Given the description of an element on the screen output the (x, y) to click on. 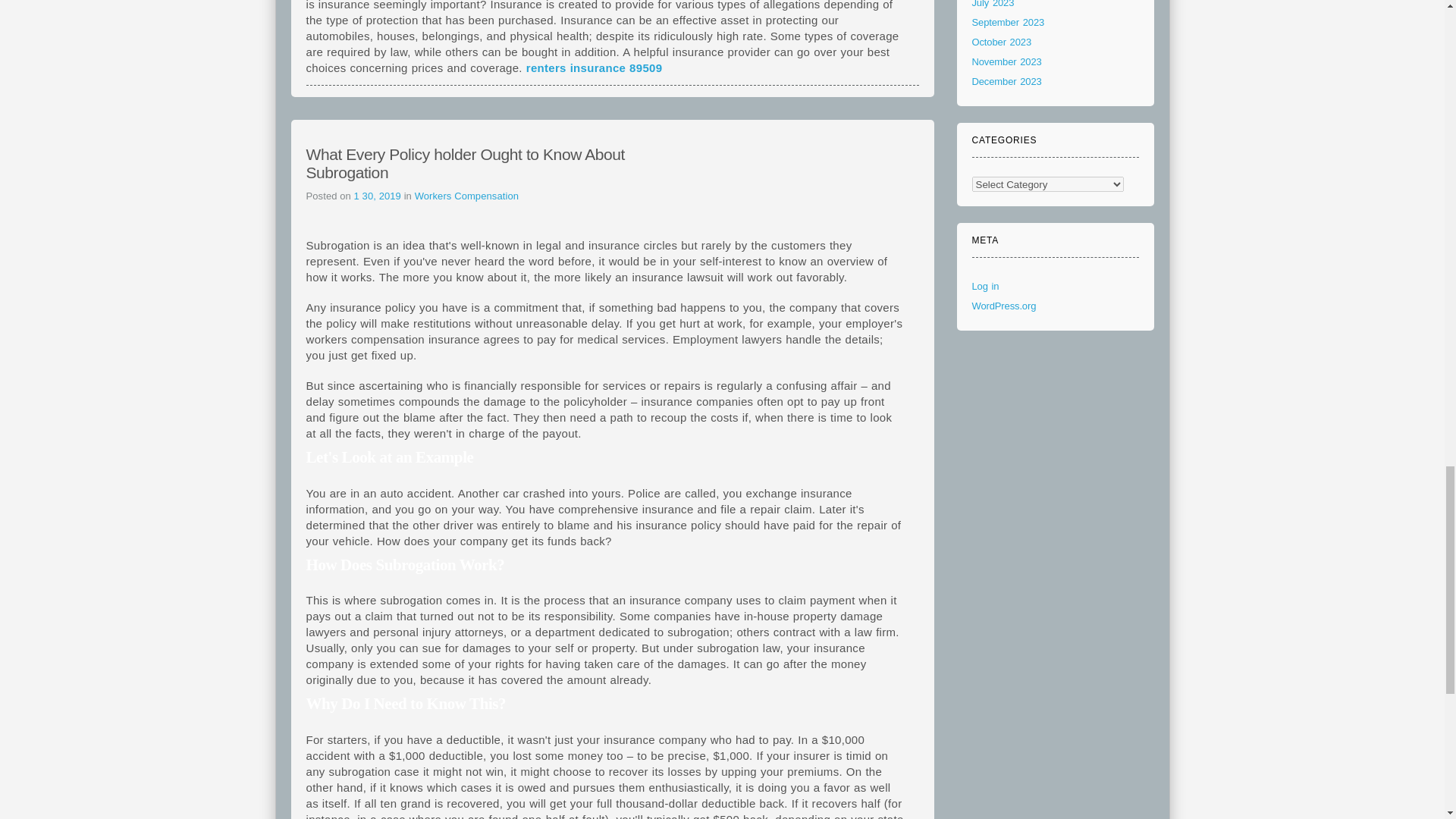
renters insurance 89509 (593, 67)
1 30, 2019  (378, 195)
Workers Compensation (466, 195)
What Every Policy holder Ought to Know About Subrogation (464, 162)
